Given the description of an element on the screen output the (x, y) to click on. 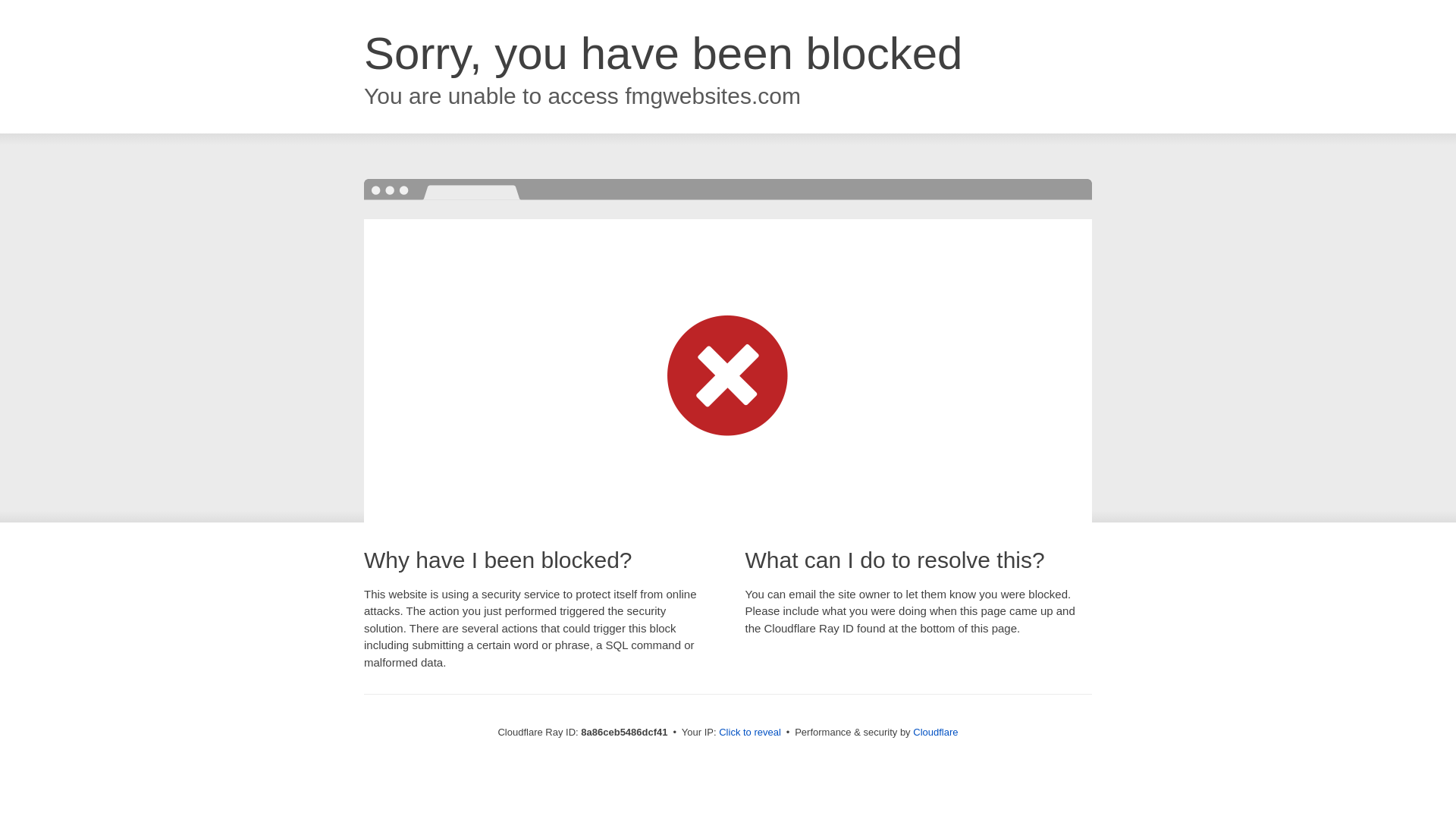
Cloudflare (935, 731)
Click to reveal (749, 732)
